Given the description of an element on the screen output the (x, y) to click on. 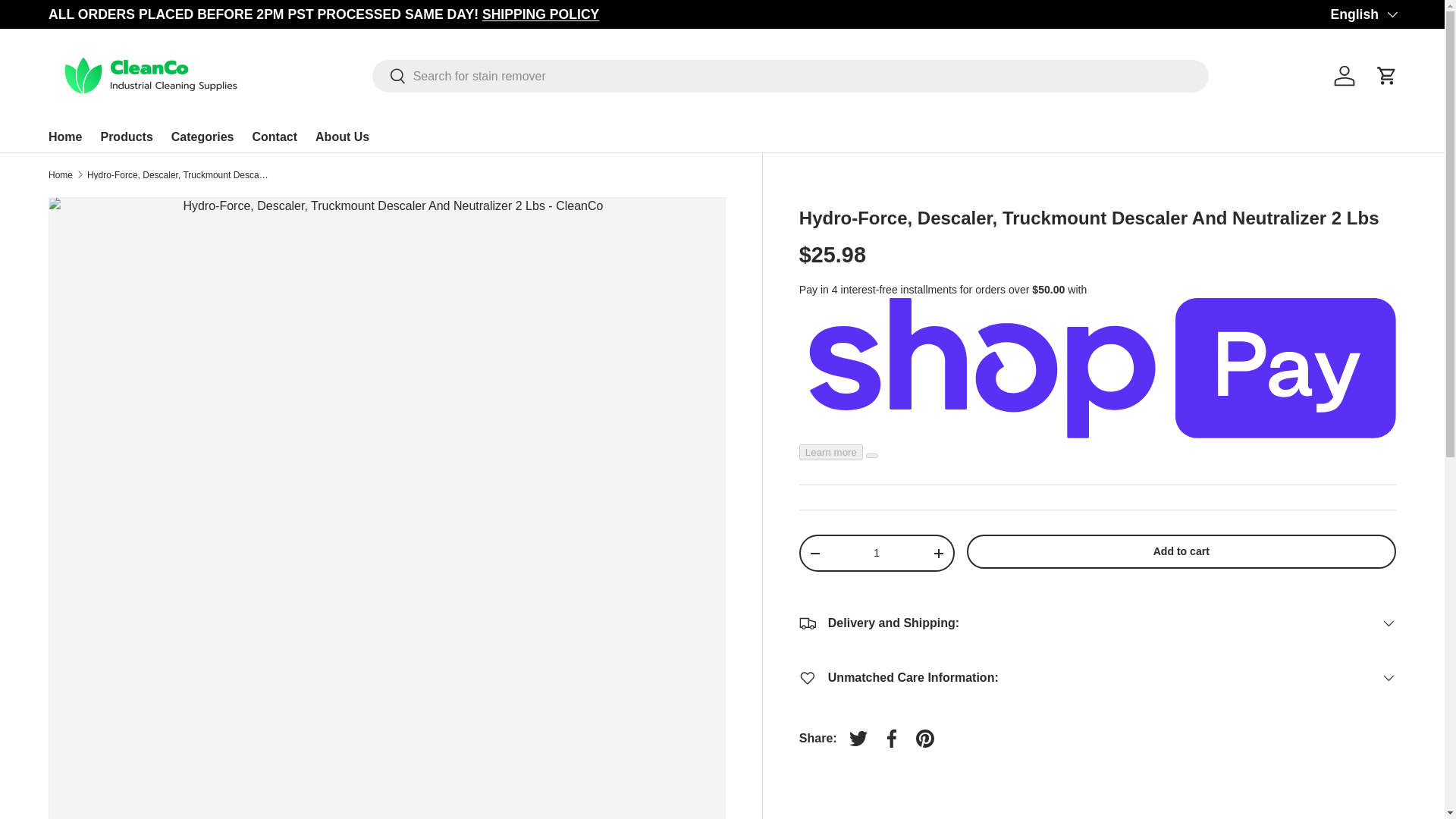
Log in (1344, 75)
SHIPPING POLICY (539, 14)
Share on Facebook (891, 738)
Contact (274, 136)
English (1363, 14)
Products (126, 136)
1 (876, 552)
About Us (342, 136)
Skip to content (69, 21)
Add to cart (1181, 551)
